Given the description of an element on the screen output the (x, y) to click on. 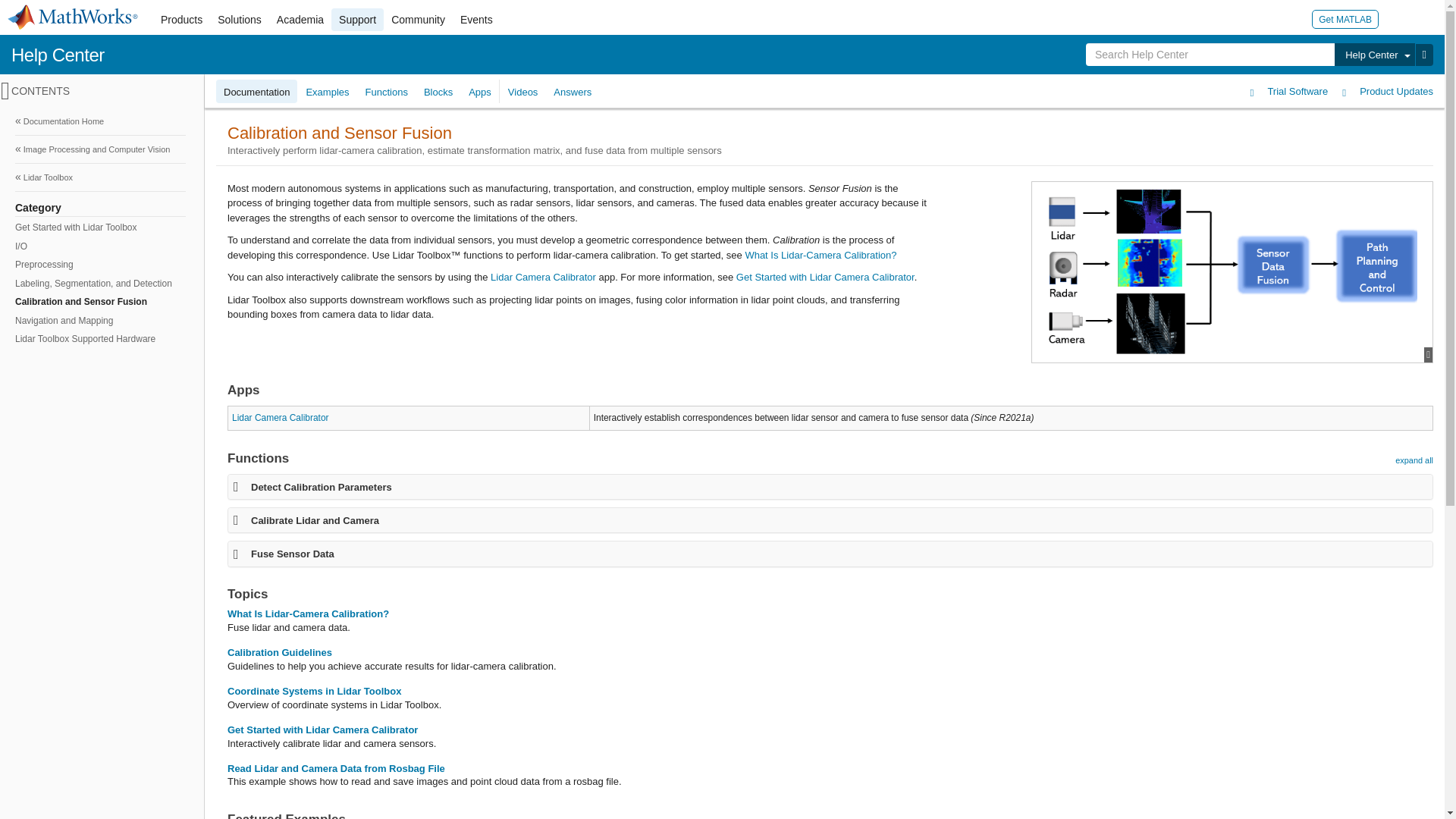
Community (418, 19)
Products (180, 19)
Sign In to Your MathWorks Account (1396, 18)
Get Started with Lidar Toolbox (98, 227)
Help Center (57, 54)
Get MATLAB (1344, 18)
Documentation Home (100, 121)
Labeling, Segmentation, and Detection (98, 283)
Image Processing and Computer Vision (100, 149)
Lidar Toolbox (100, 176)
Help Center (1374, 54)
Support (357, 19)
Solutions (239, 19)
Academia (300, 19)
Events (476, 19)
